Given the description of an element on the screen output the (x, y) to click on. 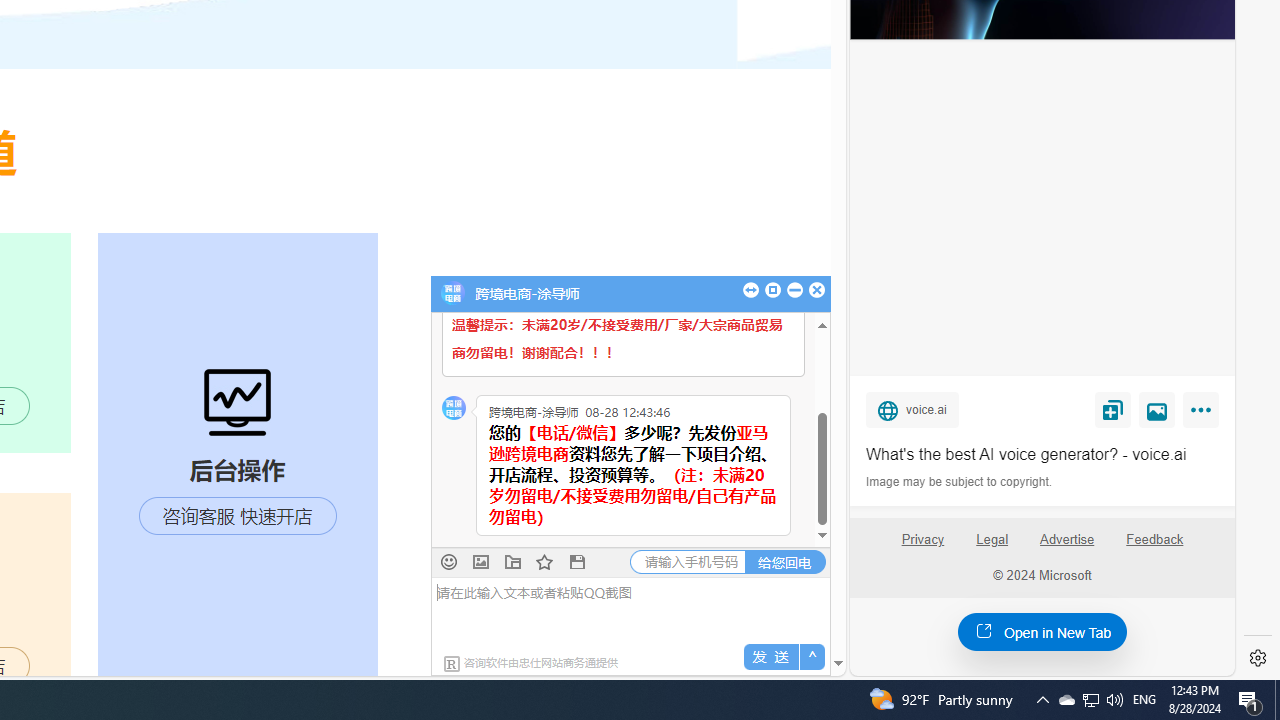
Save (1112, 409)
View image (1157, 409)
voice.ai (912, 409)
